Given the description of an element on the screen output the (x, y) to click on. 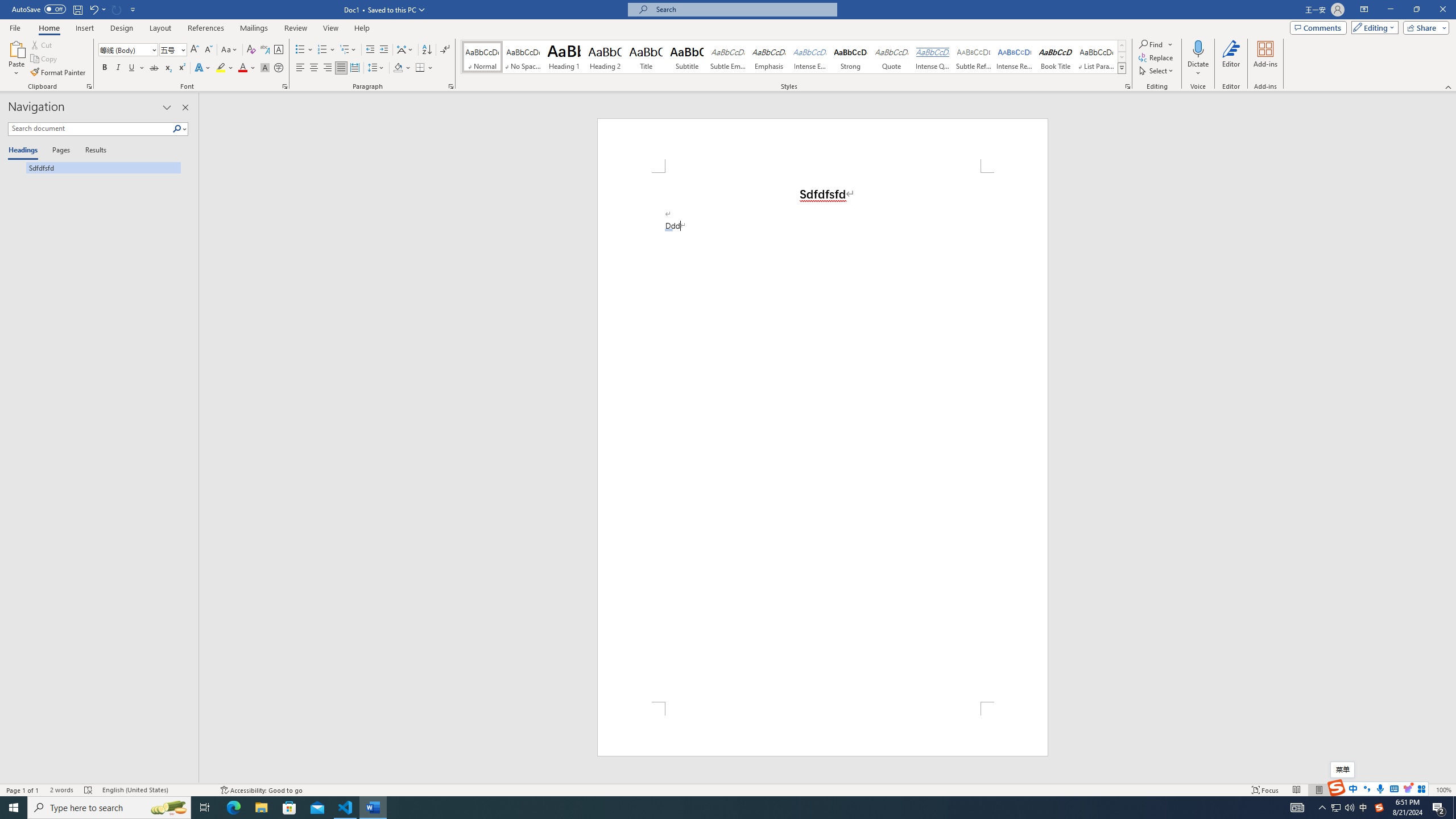
Action: Undo Auto Actions (668, 229)
